Given the description of an element on the screen output the (x, y) to click on. 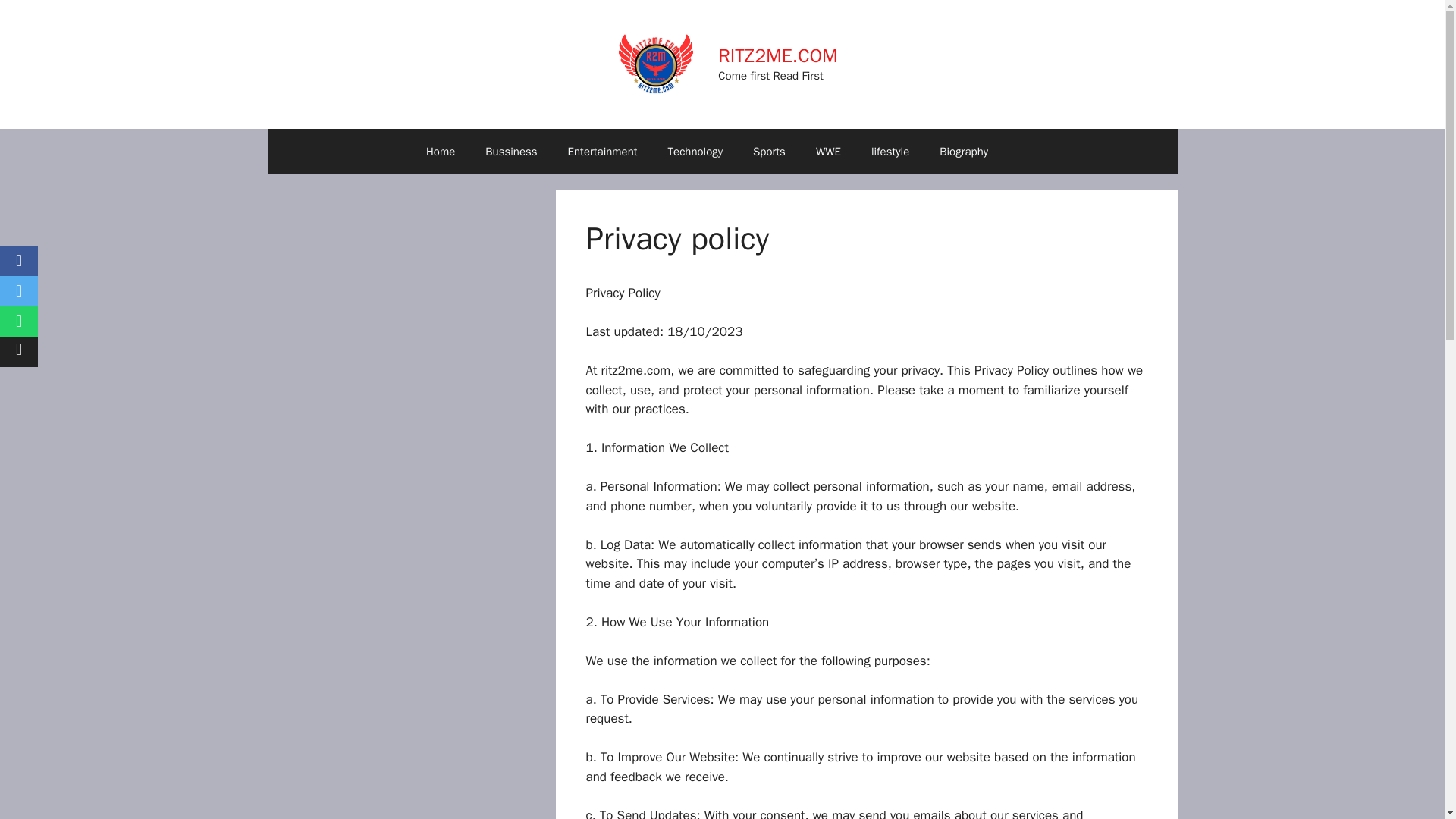
Biography (963, 151)
Technology (695, 151)
RITZ2ME.COM (777, 55)
WWE (828, 151)
lifestyle (890, 151)
Sports (769, 151)
Entertainment (602, 151)
Home (440, 151)
Bussiness (510, 151)
